Given the description of an element on the screen output the (x, y) to click on. 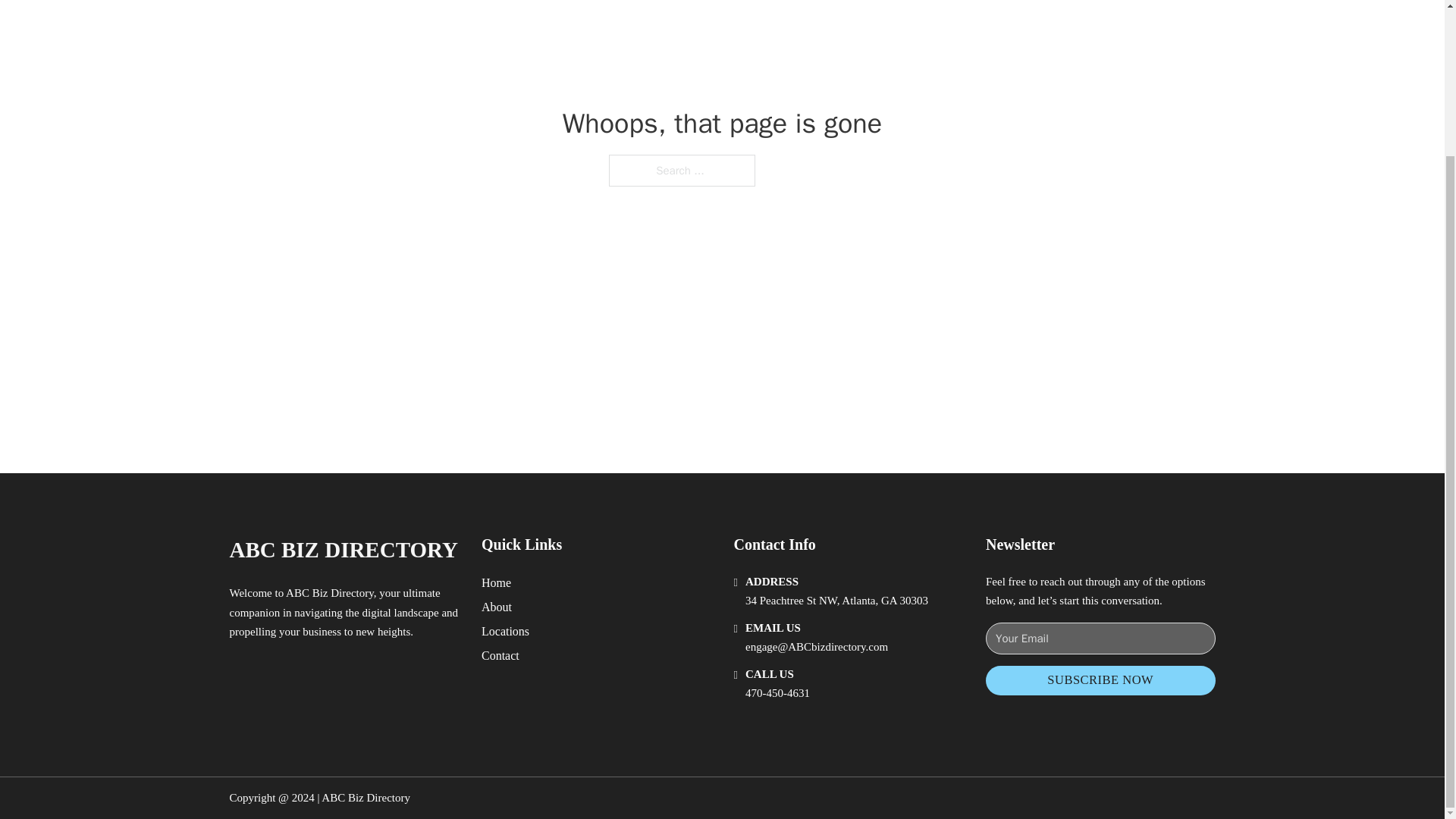
Home (496, 582)
470-450-4631 (777, 693)
About (496, 607)
ABC BIZ DIRECTORY (342, 549)
Contact (500, 655)
Locations (505, 630)
SUBSCRIBE NOW (1100, 680)
